Given the description of an element on the screen output the (x, y) to click on. 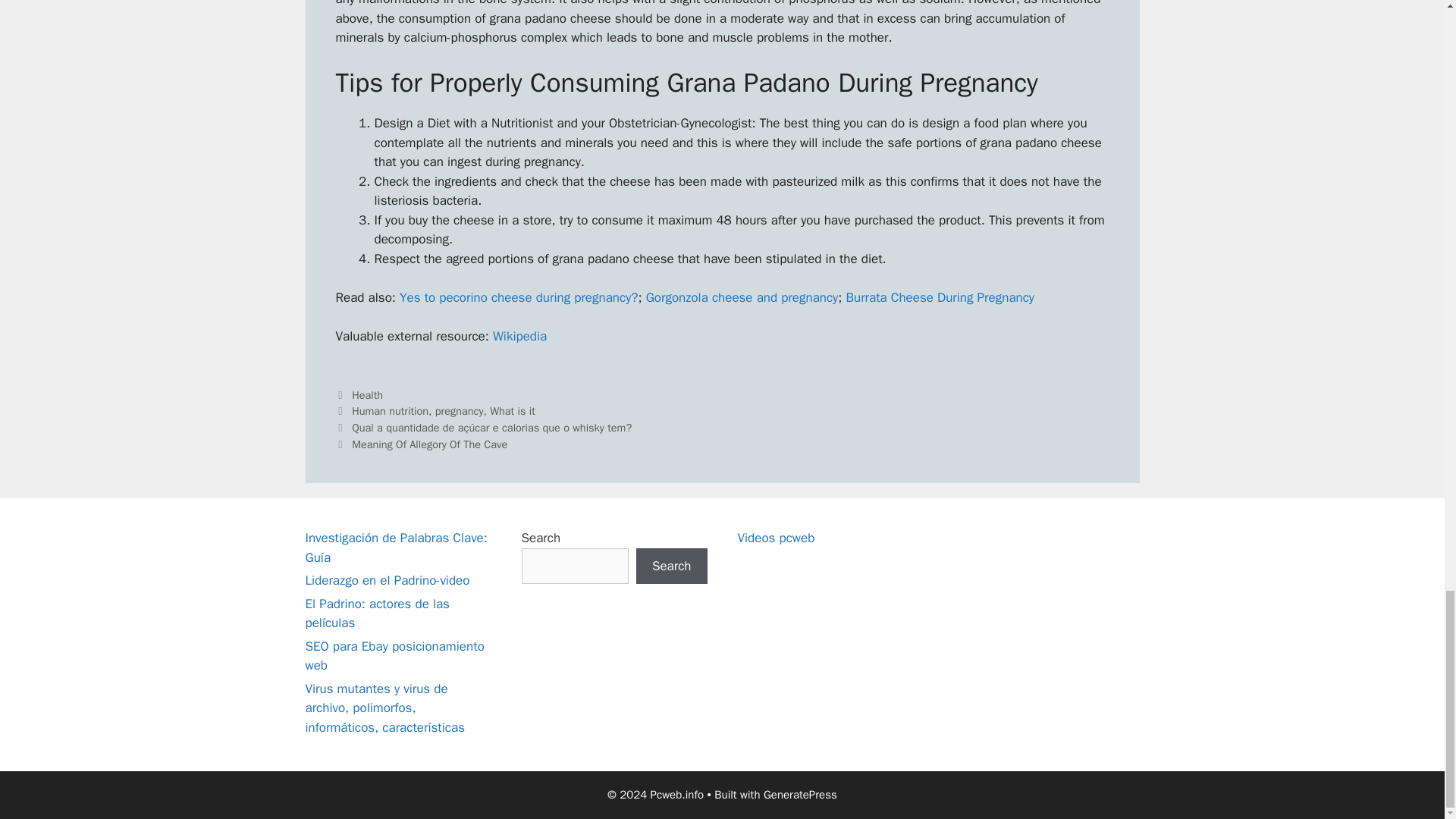
Health (367, 395)
Wikipedia (520, 335)
What is it (512, 410)
Human nutrition (390, 410)
Meaning Of Allegory Of The Cave (429, 444)
pregnancy (459, 410)
Yes to pecorino cheese during pregnancy? (517, 297)
Search (671, 565)
Burrata Cheese During Pregnancy (939, 297)
Liderazgo en el Padrino-video (386, 580)
